Given the description of an element on the screen output the (x, y) to click on. 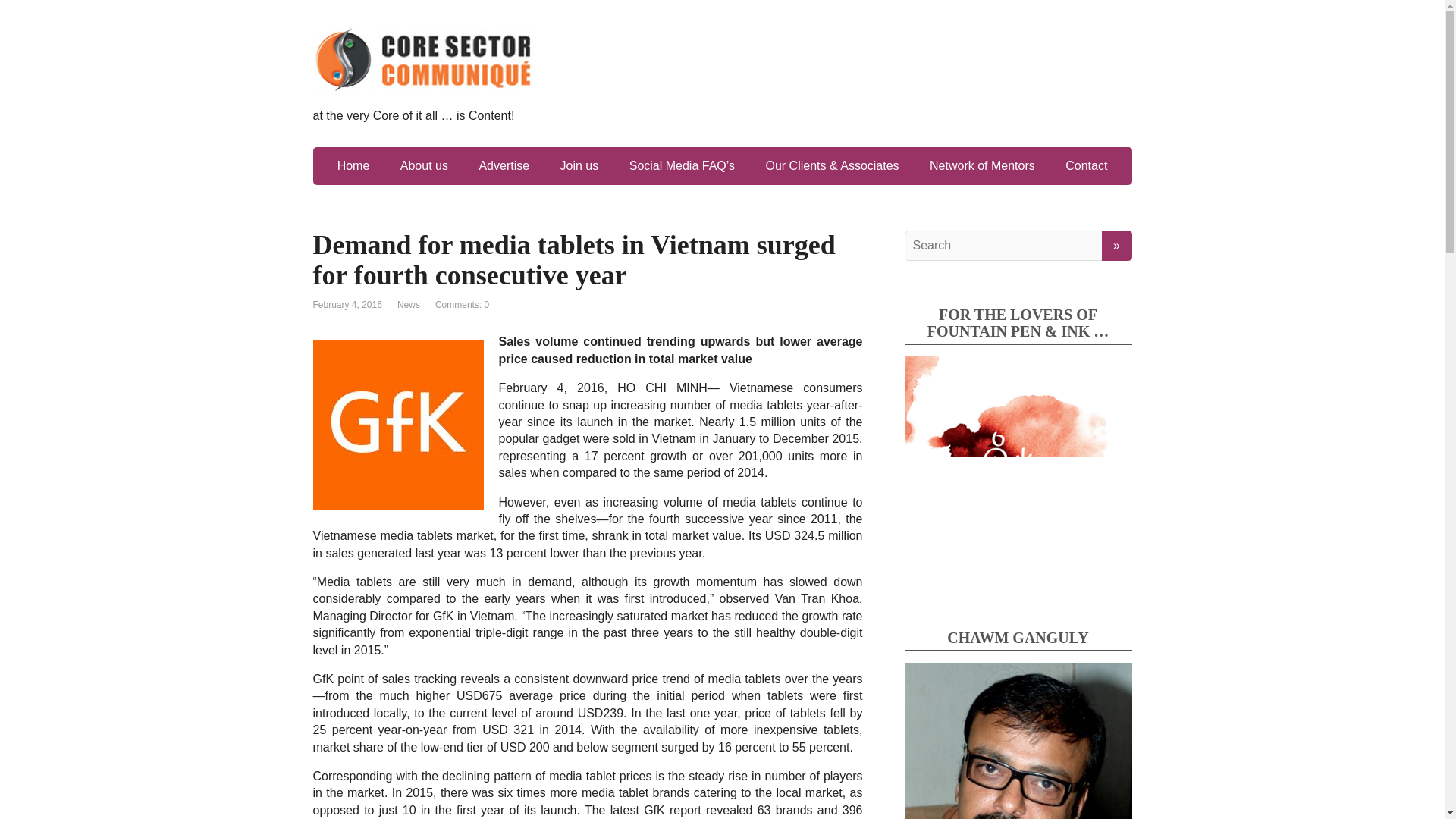
News (408, 304)
Advertise (503, 166)
Comments: 0 (462, 304)
Home (353, 166)
About us (424, 166)
Join us (579, 166)
Contact (1086, 166)
Network of Mentors (981, 166)
